Given the description of an element on the screen output the (x, y) to click on. 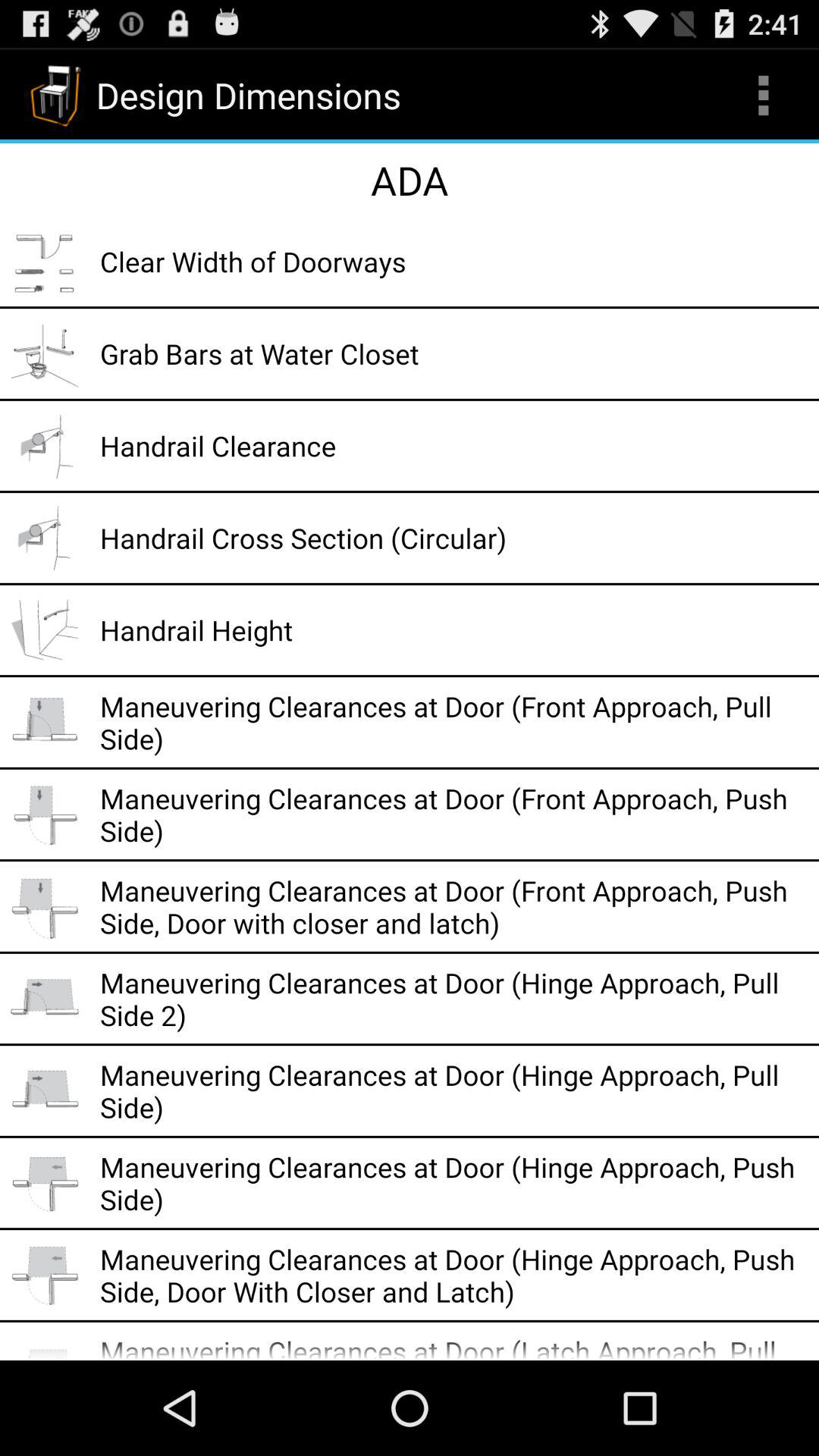
jump until handrail height (454, 630)
